Given the description of an element on the screen output the (x, y) to click on. 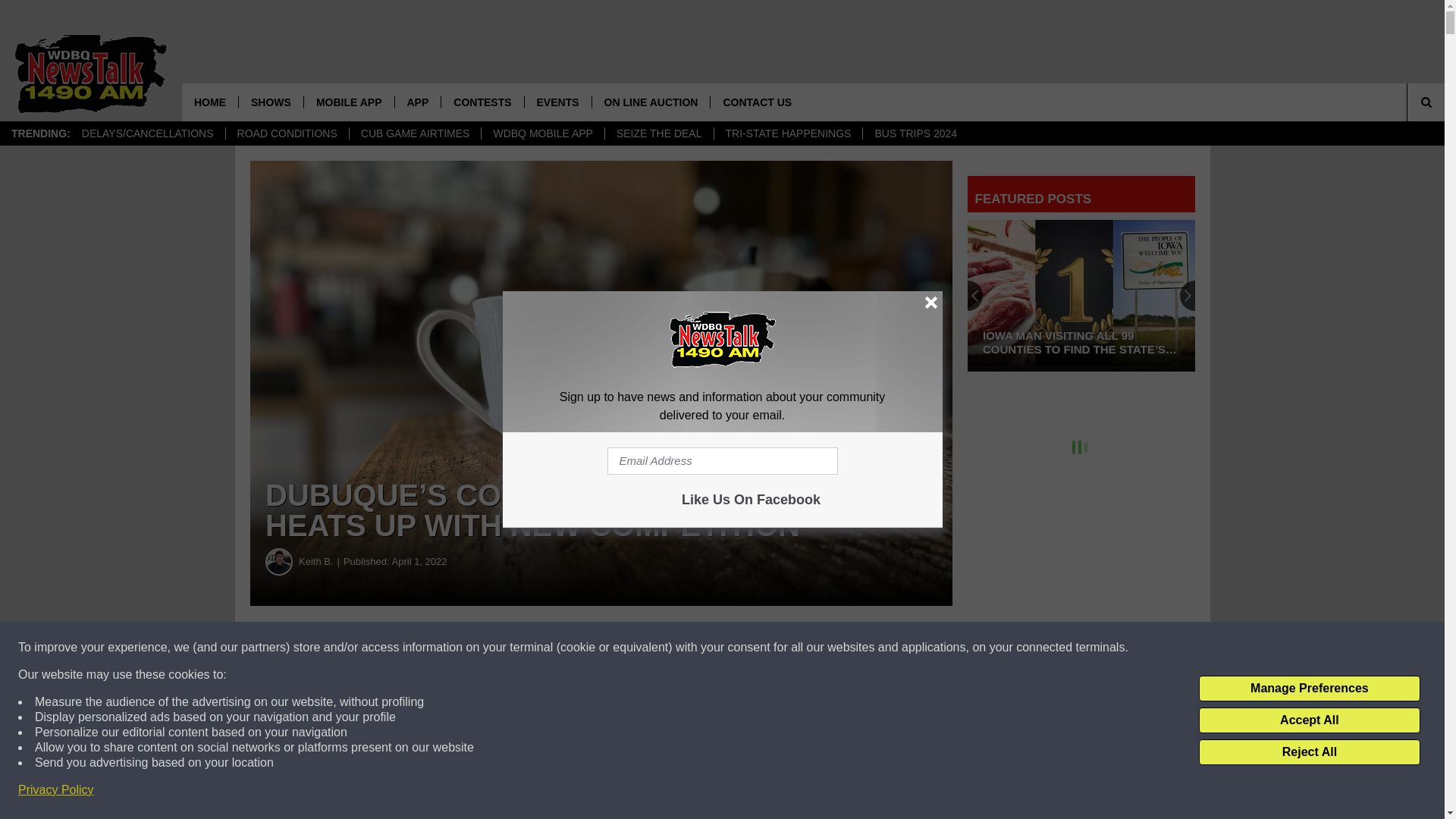
Privacy Policy (55, 789)
Share on Twitter (741, 647)
HOME (210, 102)
Manage Preferences (1309, 688)
APP (417, 102)
SEIZE THE DEAL (658, 133)
CONTESTS (481, 102)
TRI-STATE HAPPENINGS (787, 133)
ROAD CONDITIONS (287, 133)
Email Address (722, 461)
Reject All (1309, 751)
Share on Facebook (460, 647)
MOBILE APP (348, 102)
Accept All (1309, 720)
BUS TRIPS 2024 (914, 133)
